Given the description of an element on the screen output the (x, y) to click on. 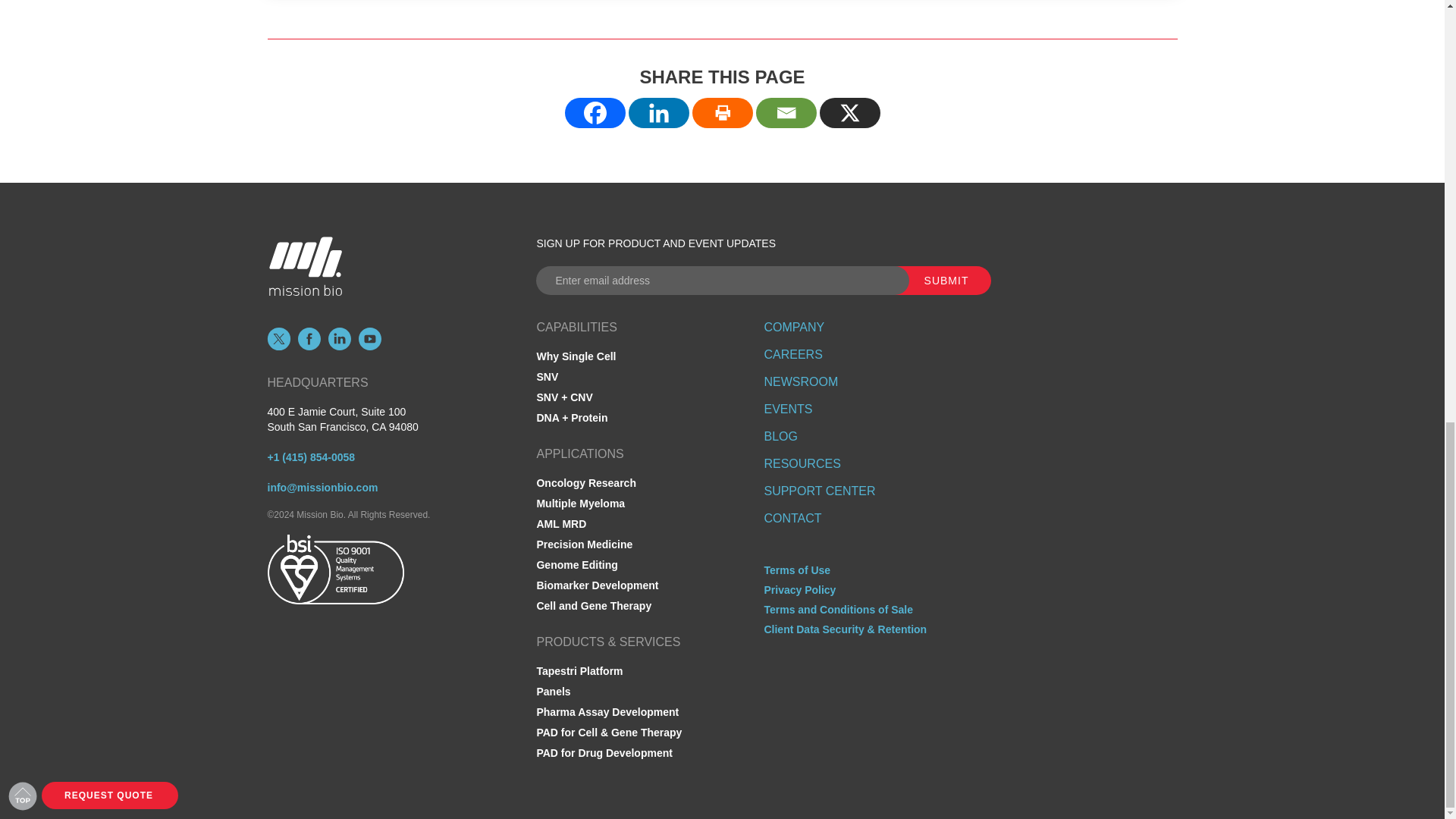
Print (721, 112)
Submit (936, 280)
Facebook (594, 112)
X (848, 112)
Email (785, 112)
Linkedin (657, 112)
